Given the description of an element on the screen output the (x, y) to click on. 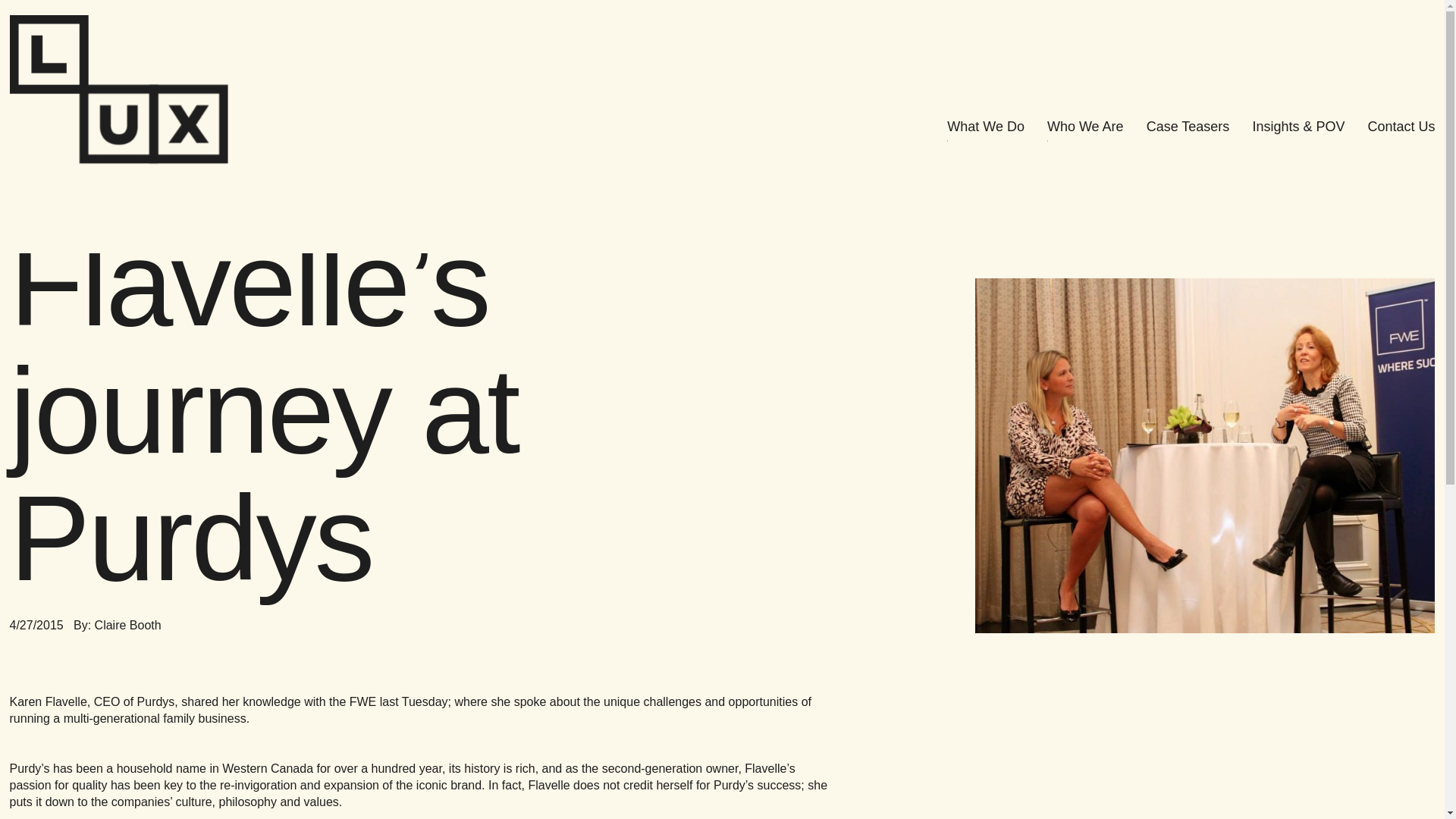
Who We Are (1085, 126)
Contact Us (1400, 126)
What We Do (986, 126)
Case Teasers (1188, 126)
